Given the description of an element on the screen output the (x, y) to click on. 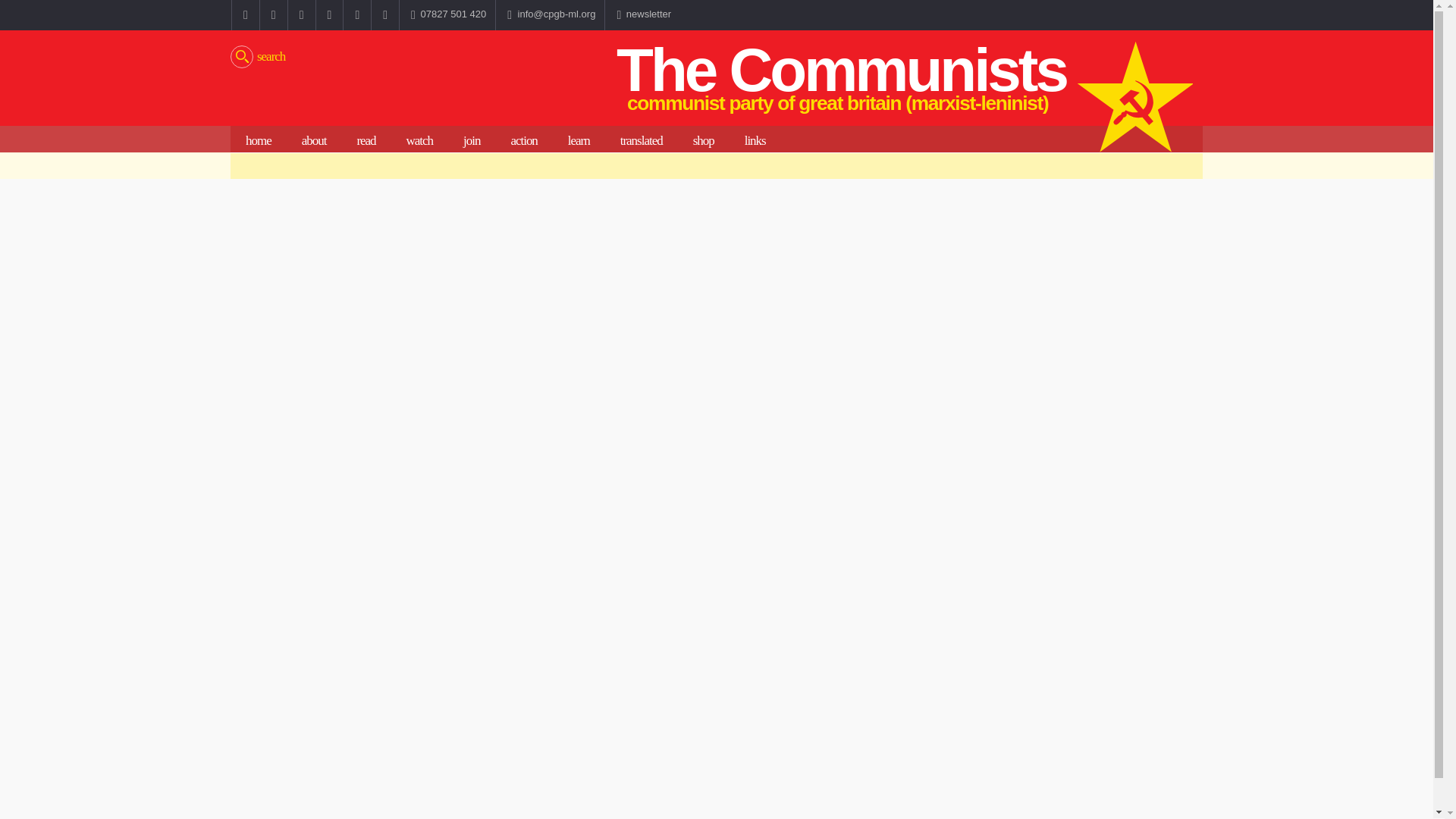
newsletter (641, 15)
07827 501 420 (446, 15)
